Given the description of an element on the screen output the (x, y) to click on. 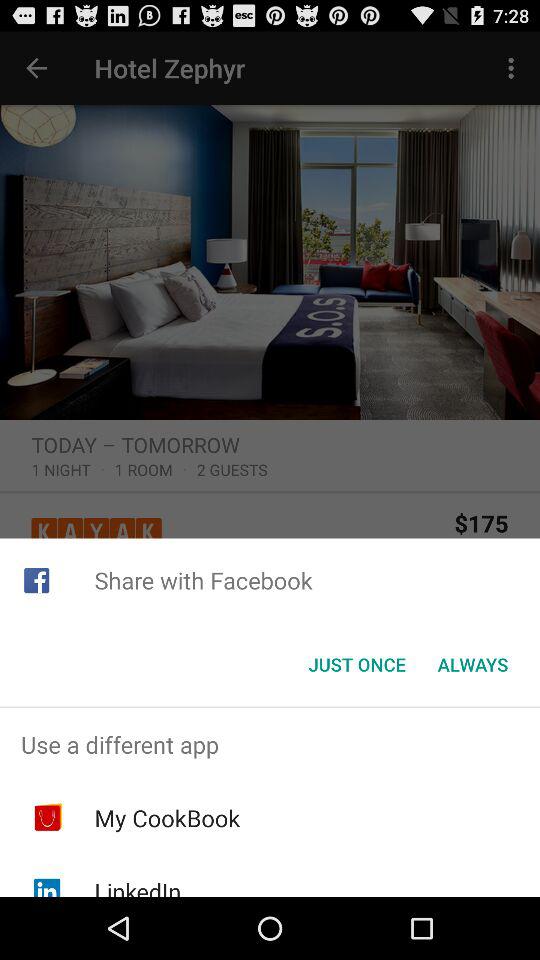
choose the icon to the left of the always (356, 664)
